Given the description of an element on the screen output the (x, y) to click on. 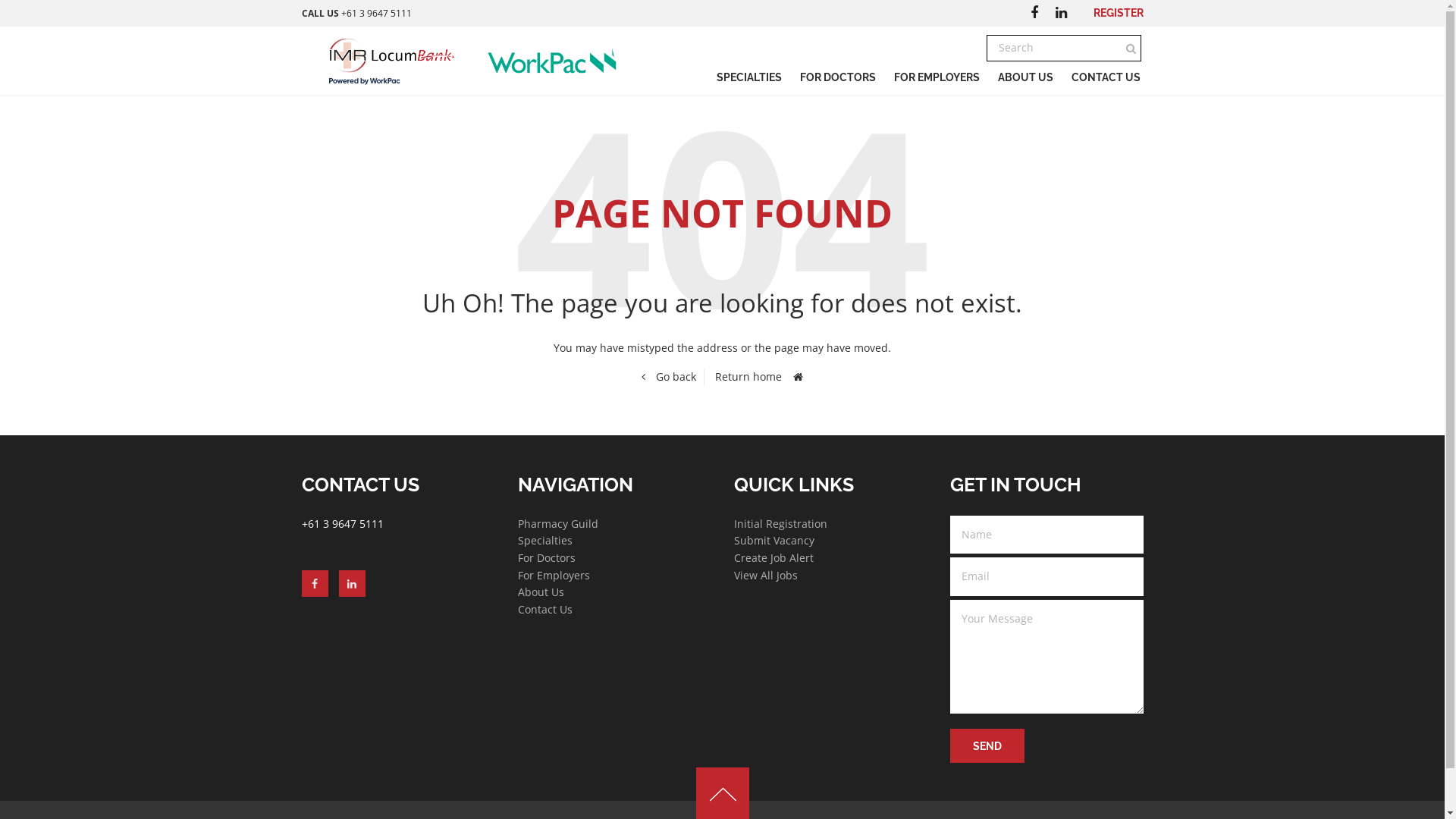
+61 3 9647 5111 Element type: text (376, 12)
Specialties Element type: text (544, 540)
Send Element type: text (986, 745)
Submit Vacancy Element type: text (774, 540)
REGISTER Element type: text (1118, 12)
Create Job Alert Element type: text (773, 557)
Return home Element type: text (758, 376)
Go back Element type: text (668, 376)
About Us Element type: text (540, 591)
For Doctors Element type: text (545, 557)
Search button Element type: text (1130, 47)
SPECIALTIES Element type: text (748, 77)
IMR Locumbank Element type: hover (387, 60)
ABOUT US Element type: text (1025, 77)
View All Jobs Element type: text (765, 574)
FOR EMPLOYERS Element type: text (936, 77)
FOR DOCTORS Element type: text (837, 77)
WorkPac Element type: hover (559, 60)
For Employers Element type: text (553, 574)
Pharmacy Guild Element type: text (557, 523)
+61 3 9647 5111 Element type: text (342, 523)
Contact Us Element type: text (544, 609)
CONTACT US Element type: text (1104, 77)
Initial Registration Element type: text (780, 523)
